Given the description of an element on the screen output the (x, y) to click on. 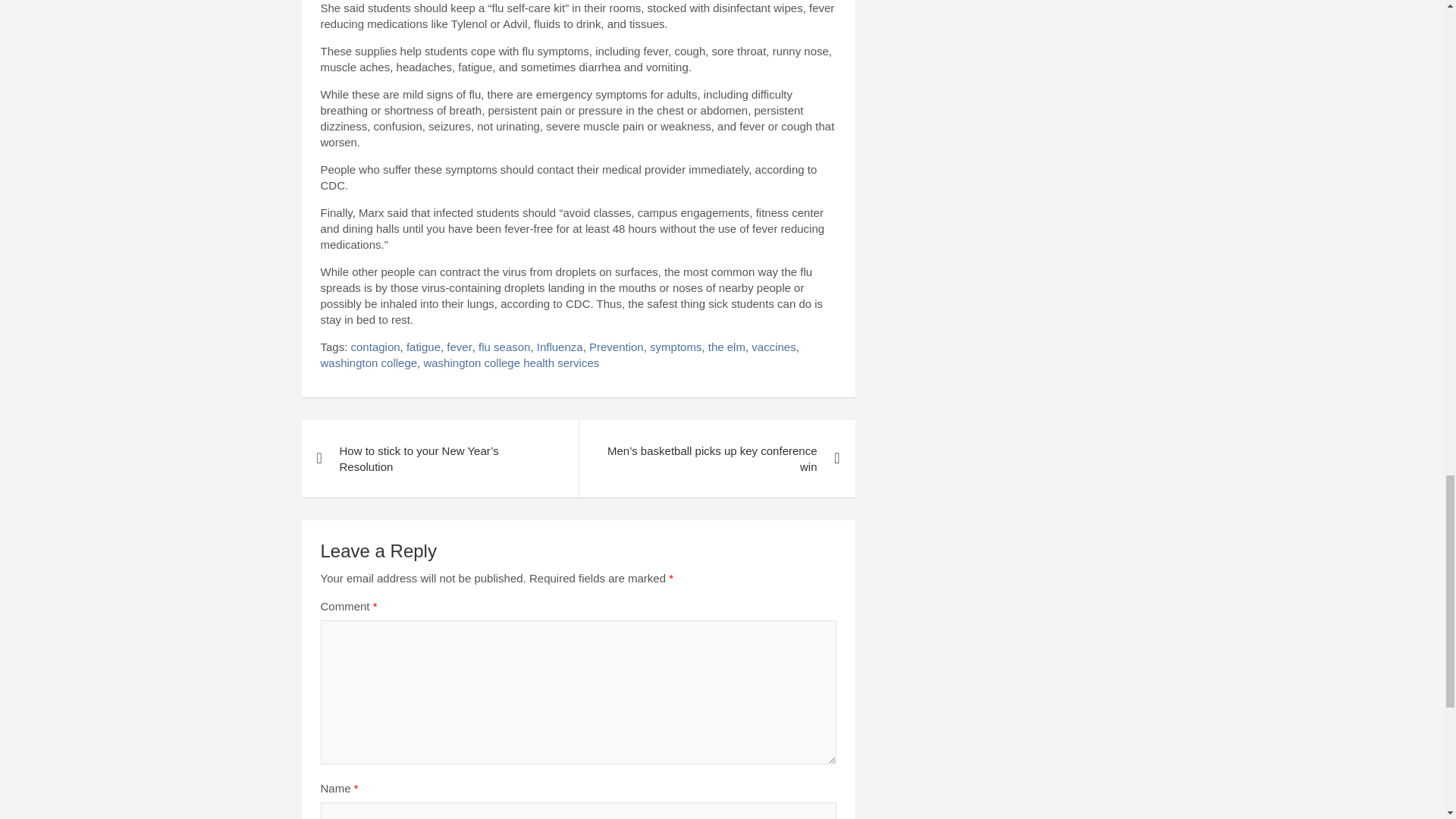
Influenza (560, 346)
washington college (368, 362)
fever (458, 346)
Prevention (616, 346)
symptoms (675, 346)
contagion (375, 346)
flu season (504, 346)
the elm (726, 346)
vaccines (772, 346)
washington college health services (510, 362)
fatigue (423, 346)
